Given the description of an element on the screen output the (x, y) to click on. 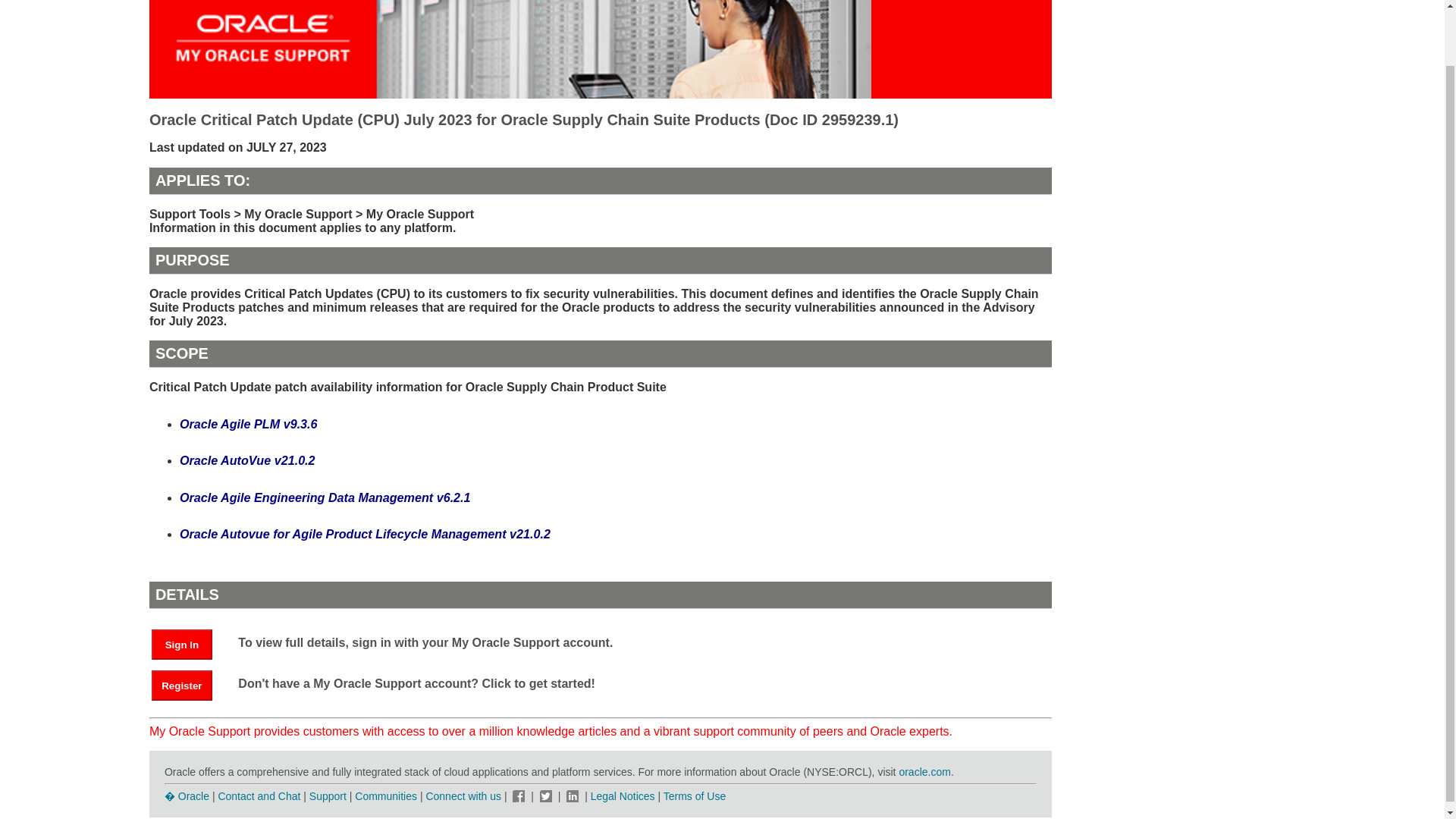
Register (189, 684)
Connect with us (464, 796)
Support (327, 796)
oracle.com (924, 771)
Sign In (189, 644)
Sign In (181, 644)
Terms of Use (694, 796)
Communities (385, 796)
Register (181, 685)
oracle.com (924, 771)
Contact and Chat (257, 796)
Legal Notices (623, 796)
